Given the description of an element on the screen output the (x, y) to click on. 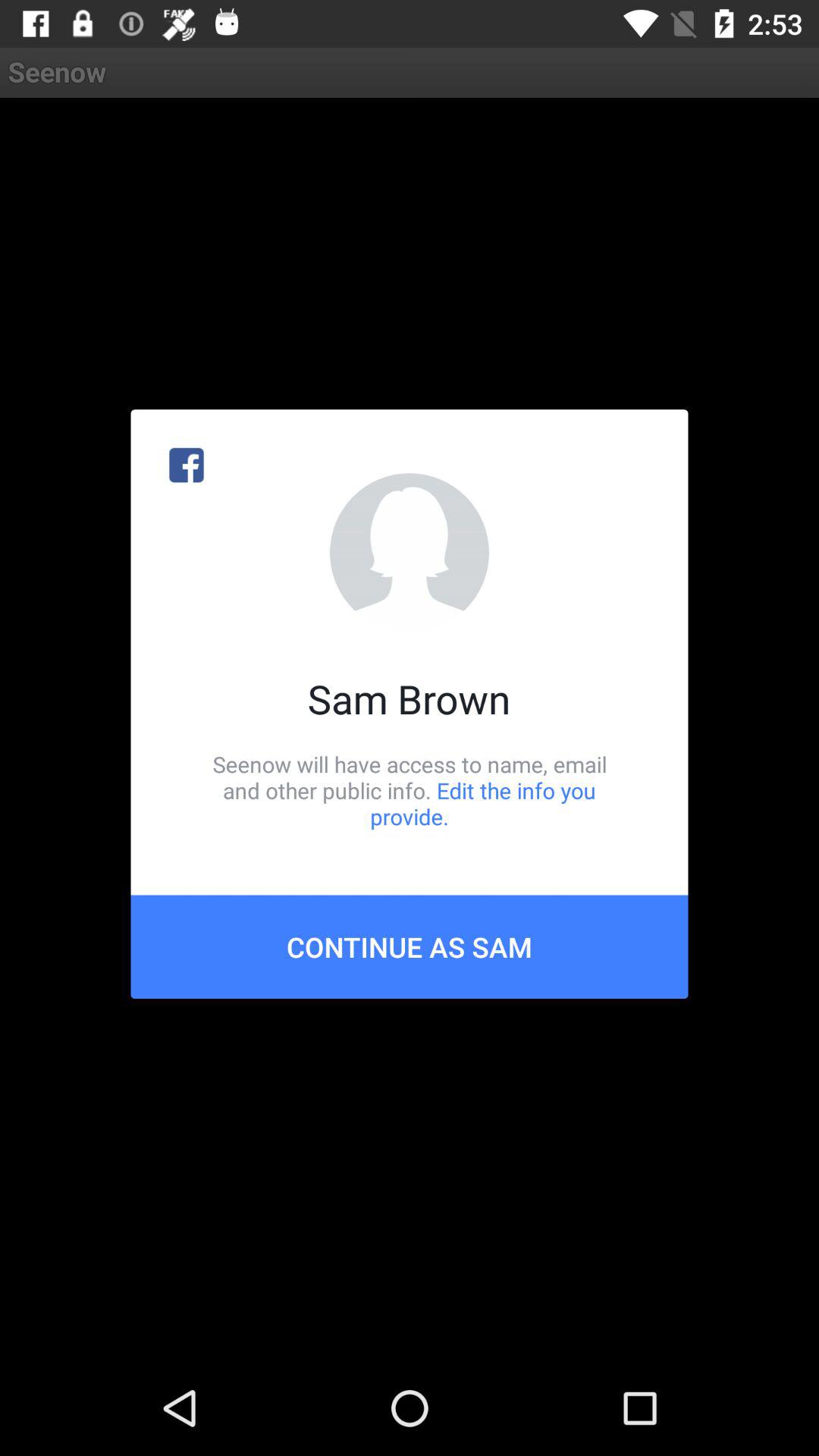
open icon above continue as sam item (409, 790)
